Given the description of an element on the screen output the (x, y) to click on. 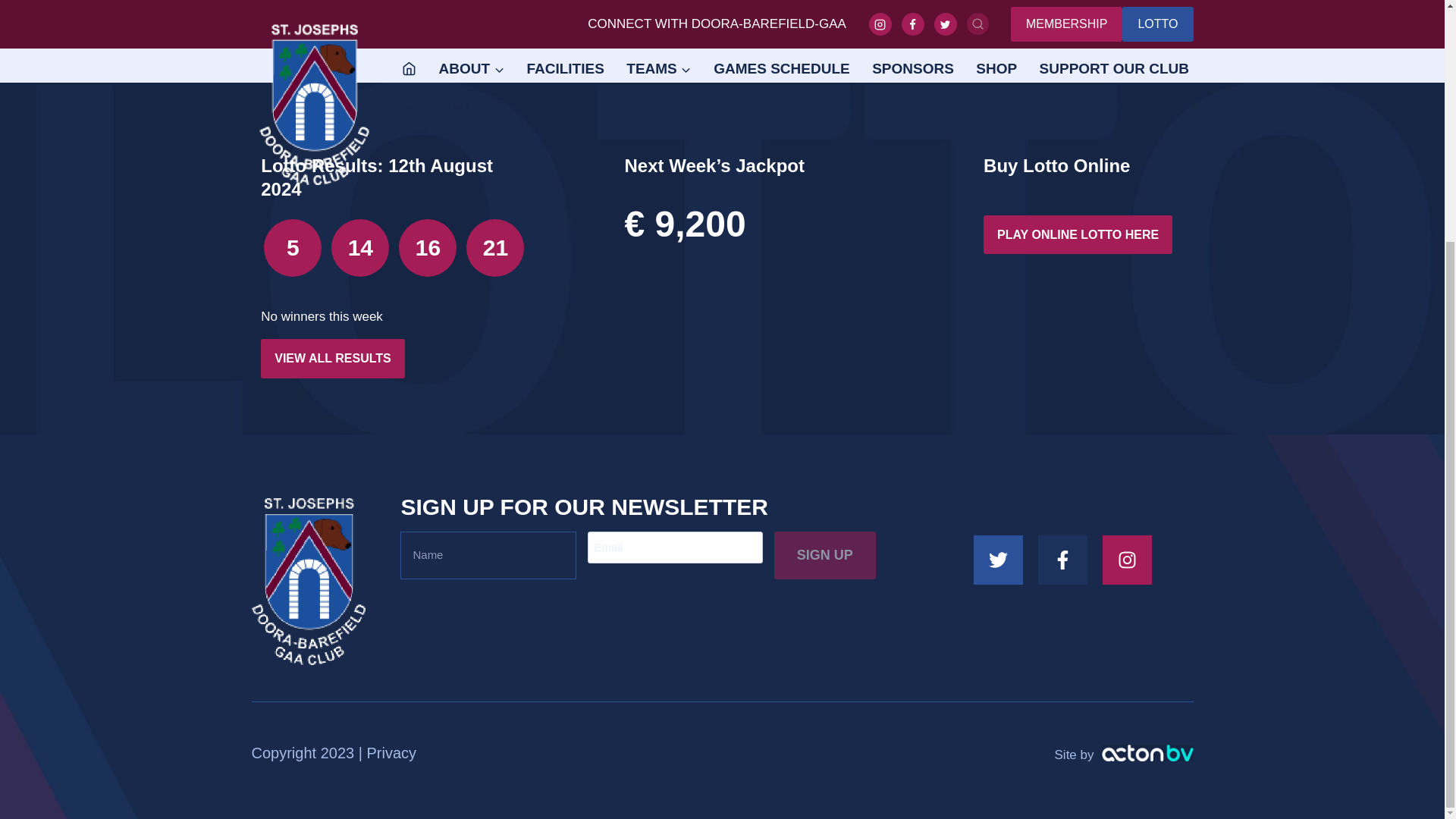
PLAY ONLINE LOTTO HERE (1078, 234)
VIEW ALL RESULTS (332, 358)
Sign Up (825, 555)
Sign Up (825, 555)
